Given the description of an element on the screen output the (x, y) to click on. 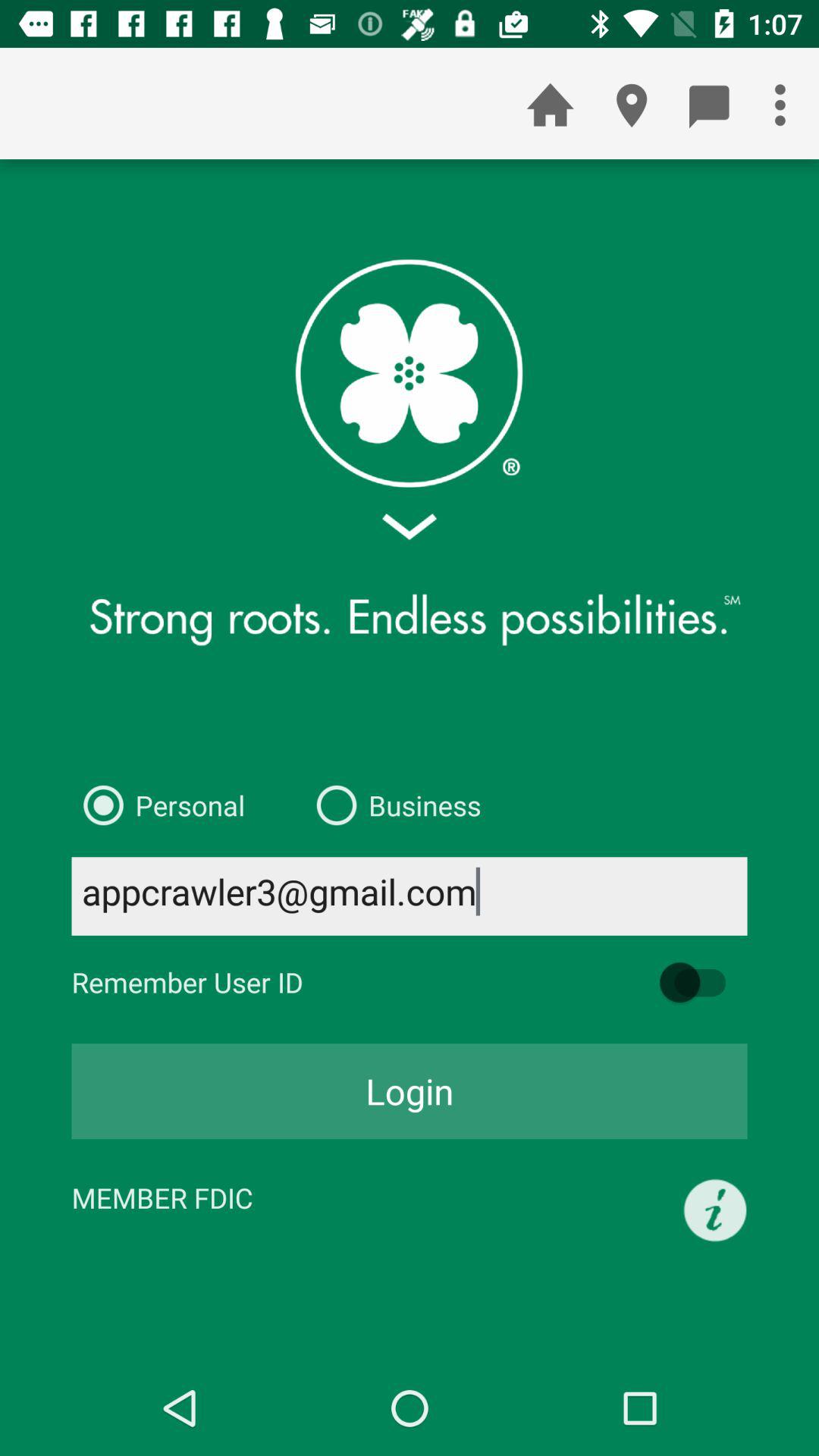
jump until the login item (409, 1091)
